Given the description of an element on the screen output the (x, y) to click on. 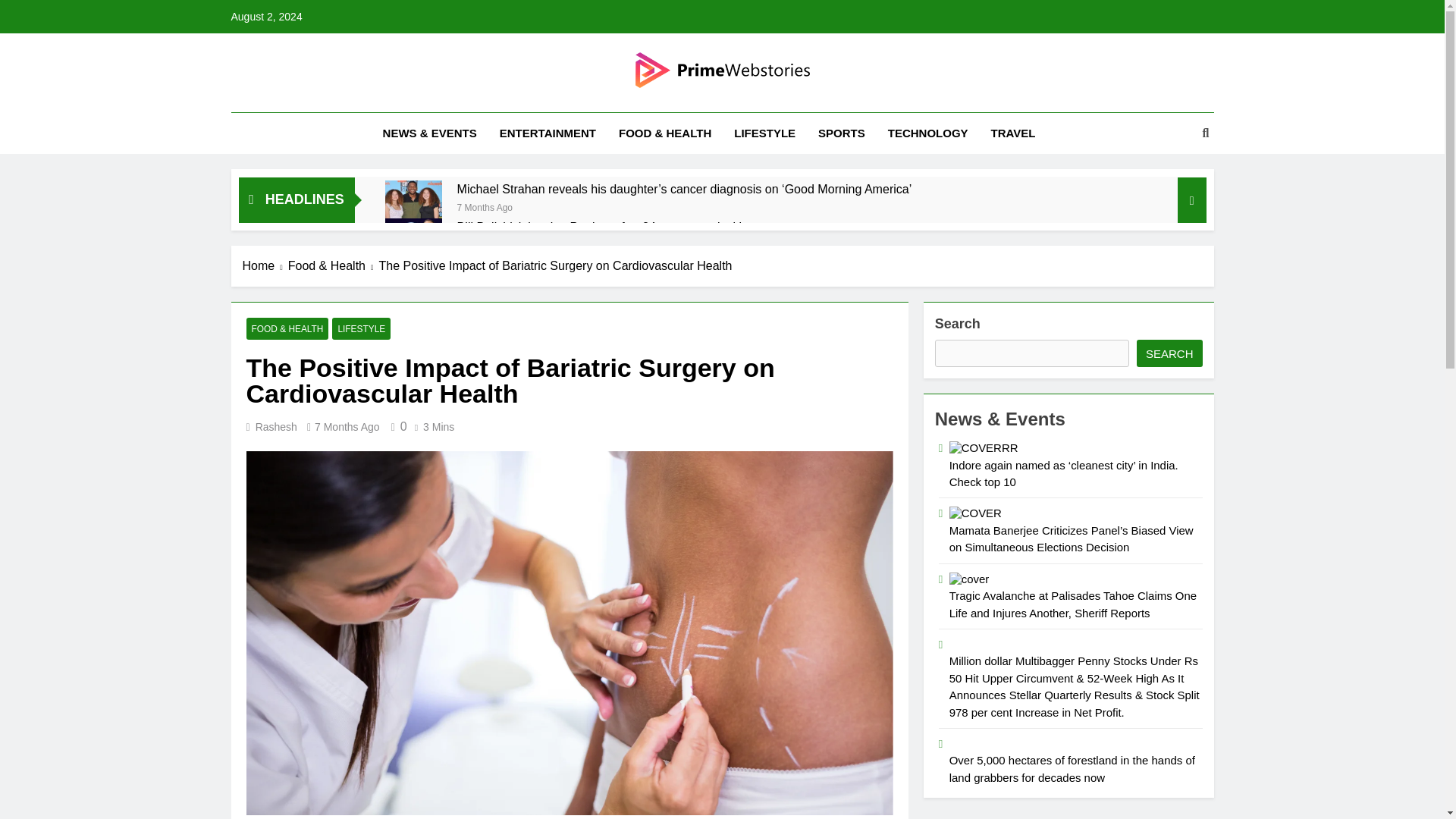
SPORTS (841, 133)
Prime WebStories (612, 109)
LIFESTYLE (764, 133)
Bill Belichick leaving Patriots after 24 seasons, six titles (605, 227)
TECHNOLOGY (927, 133)
Home (265, 266)
LIFESTYLE (360, 328)
Bill Belichick leaving Patriots after 24 seasons, six titles (413, 246)
7 Months Ago (484, 205)
Bill Belichick leaving Patriots after 24 seasons, six titles (605, 227)
TRAVEL (1012, 133)
ENTERTAINMENT (547, 133)
